Given the description of an element on the screen output the (x, y) to click on. 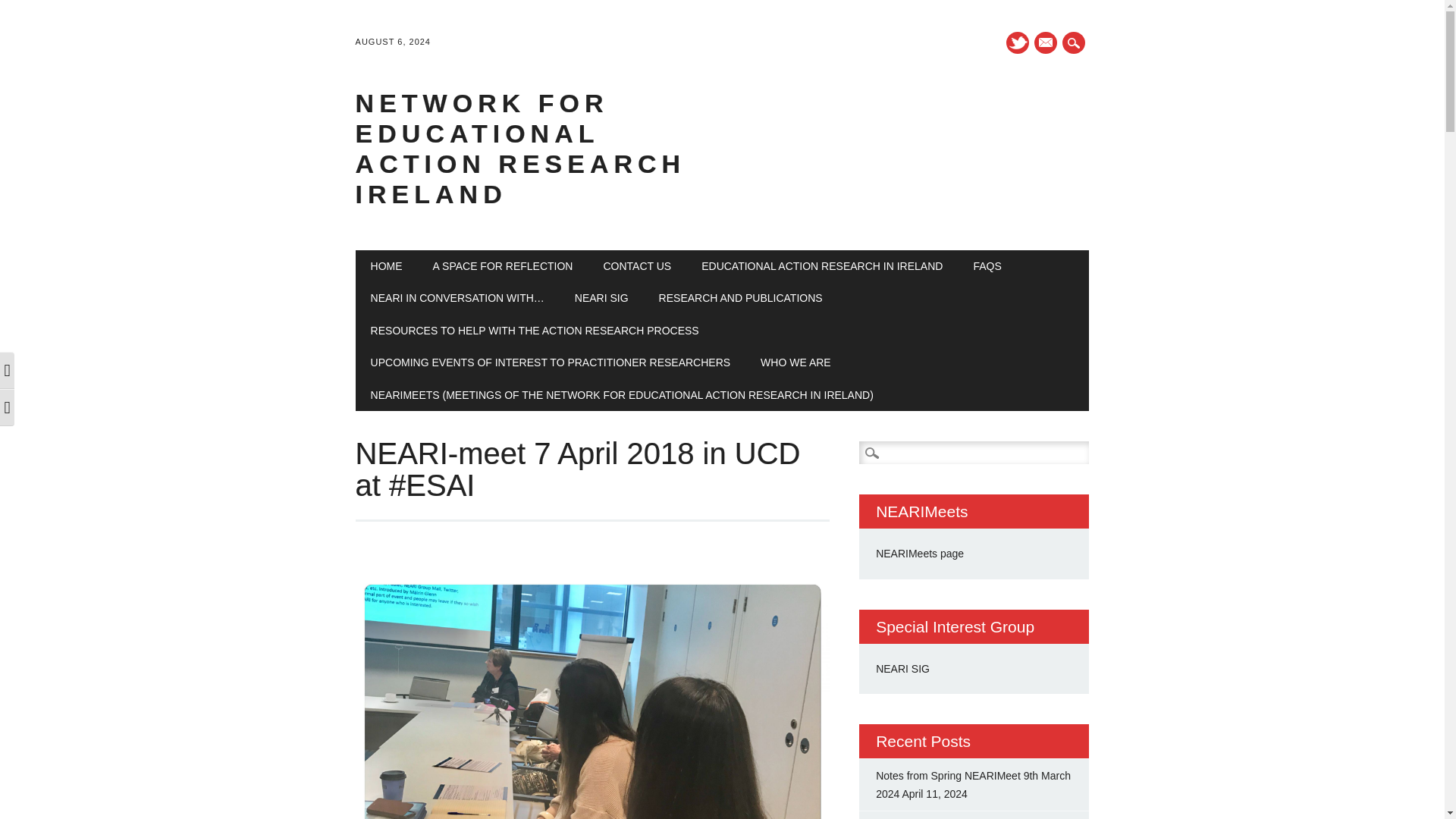
CONTACT US (636, 265)
FAQS (987, 265)
Network for Educational Action Research Ireland (520, 148)
WHO WE ARE (795, 362)
EDUCATIONAL ACTION RESEARCH IN IRELAND (821, 265)
RESEARCH AND PUBLICATIONS (740, 297)
A SPACE FOR REFLECTION (502, 265)
Twitter (1017, 42)
RESOURCES TO HELP WITH THE ACTION RESEARCH PROCESS (534, 330)
NETWORK FOR EDUCATIONAL ACTION RESEARCH IRELAND (520, 148)
HOME (386, 265)
UPCOMING EVENTS OF INTEREST TO PRACTITIONER RESEARCHERS (550, 362)
E-mail (1045, 42)
NEARI SIG (601, 297)
